Given the description of an element on the screen output the (x, y) to click on. 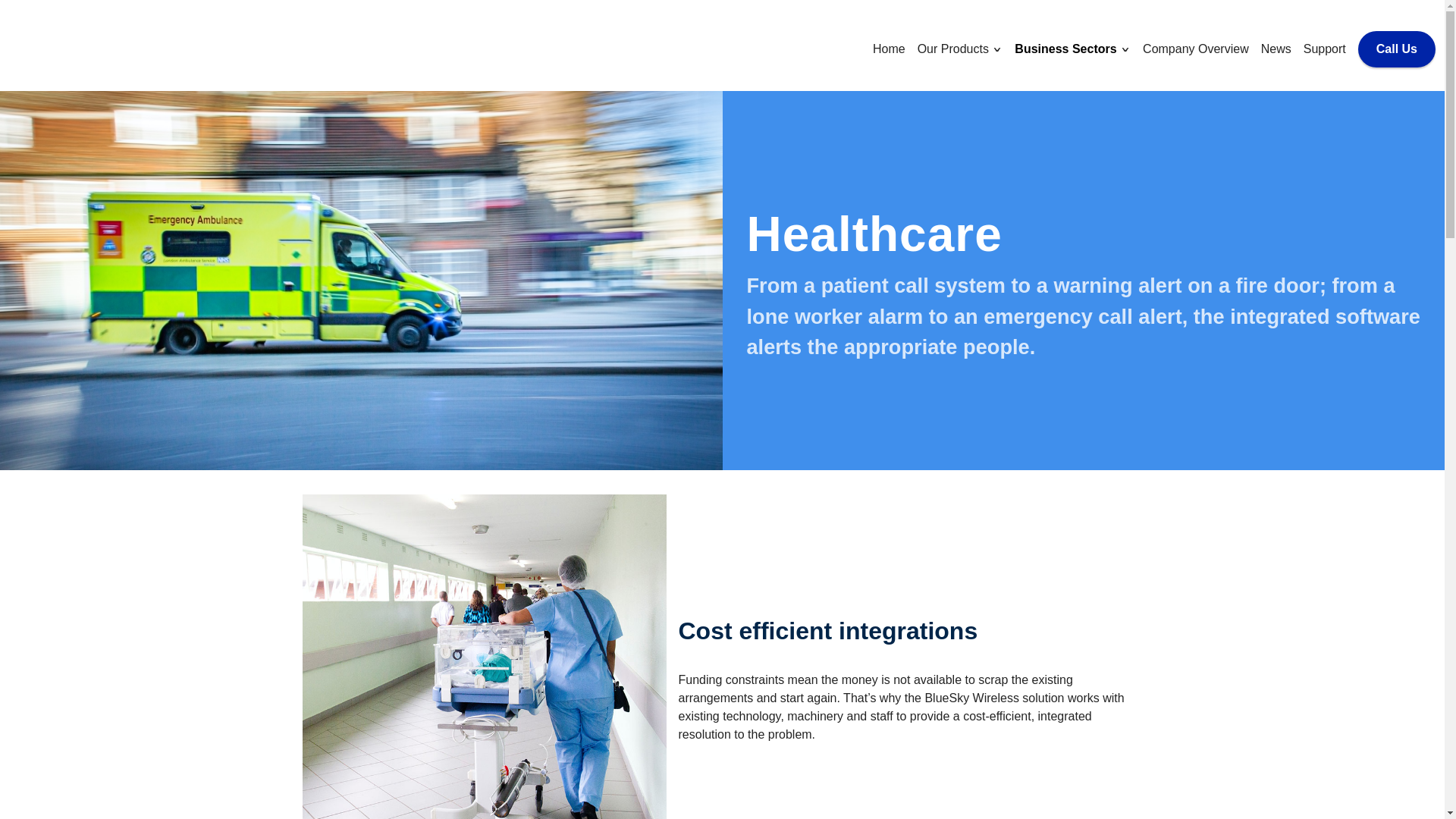
Business Sectors (1066, 48)
Our Products (954, 48)
News (1275, 48)
Support (1324, 48)
Company Overview (1195, 48)
Home (888, 48)
BlueSky Wireless (84, 45)
Call Us (1396, 49)
